Given the description of an element on the screen output the (x, y) to click on. 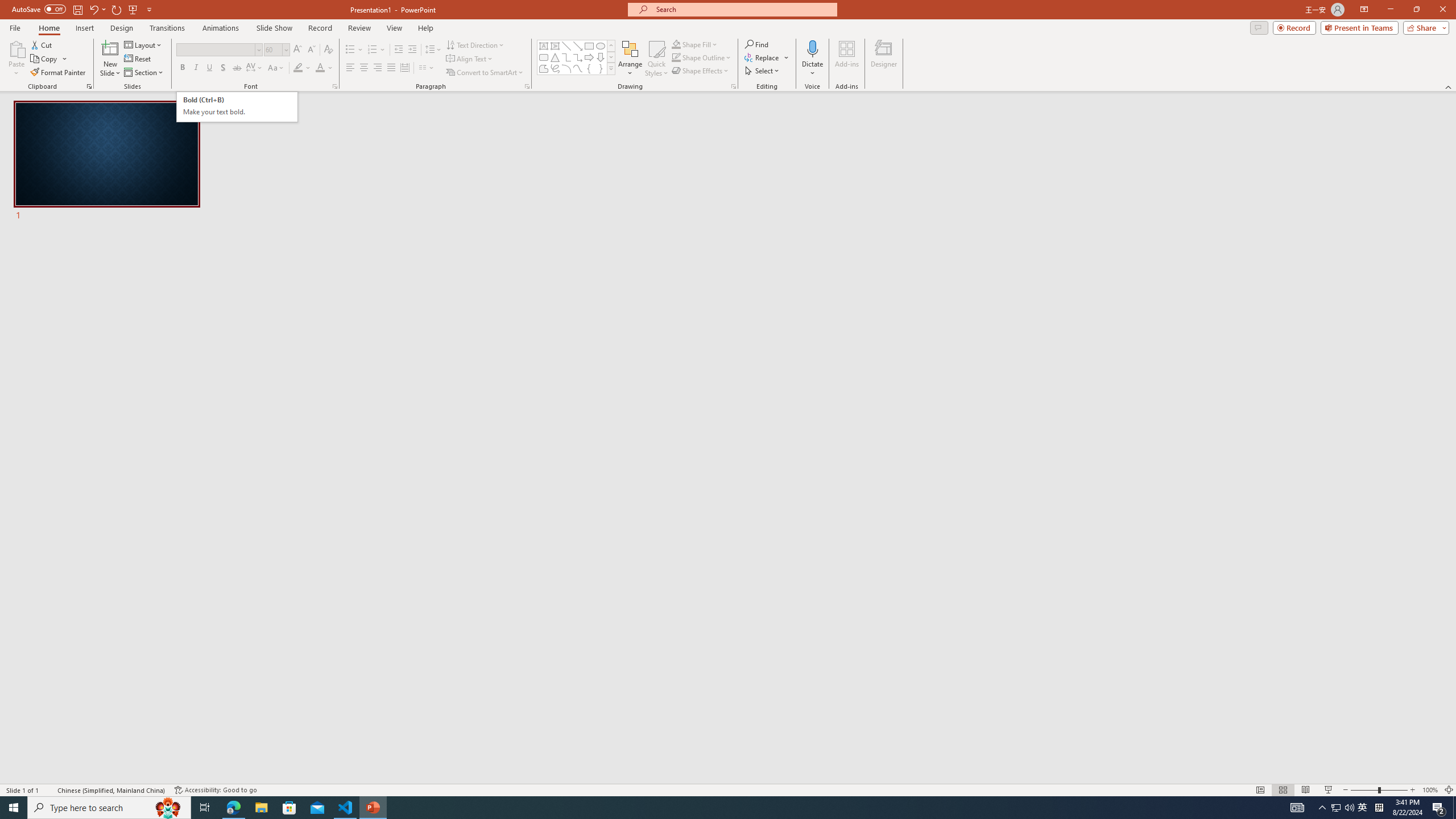
Spell Check  (49, 790)
Zoom 100% (1430, 790)
